Given the description of an element on the screen output the (x, y) to click on. 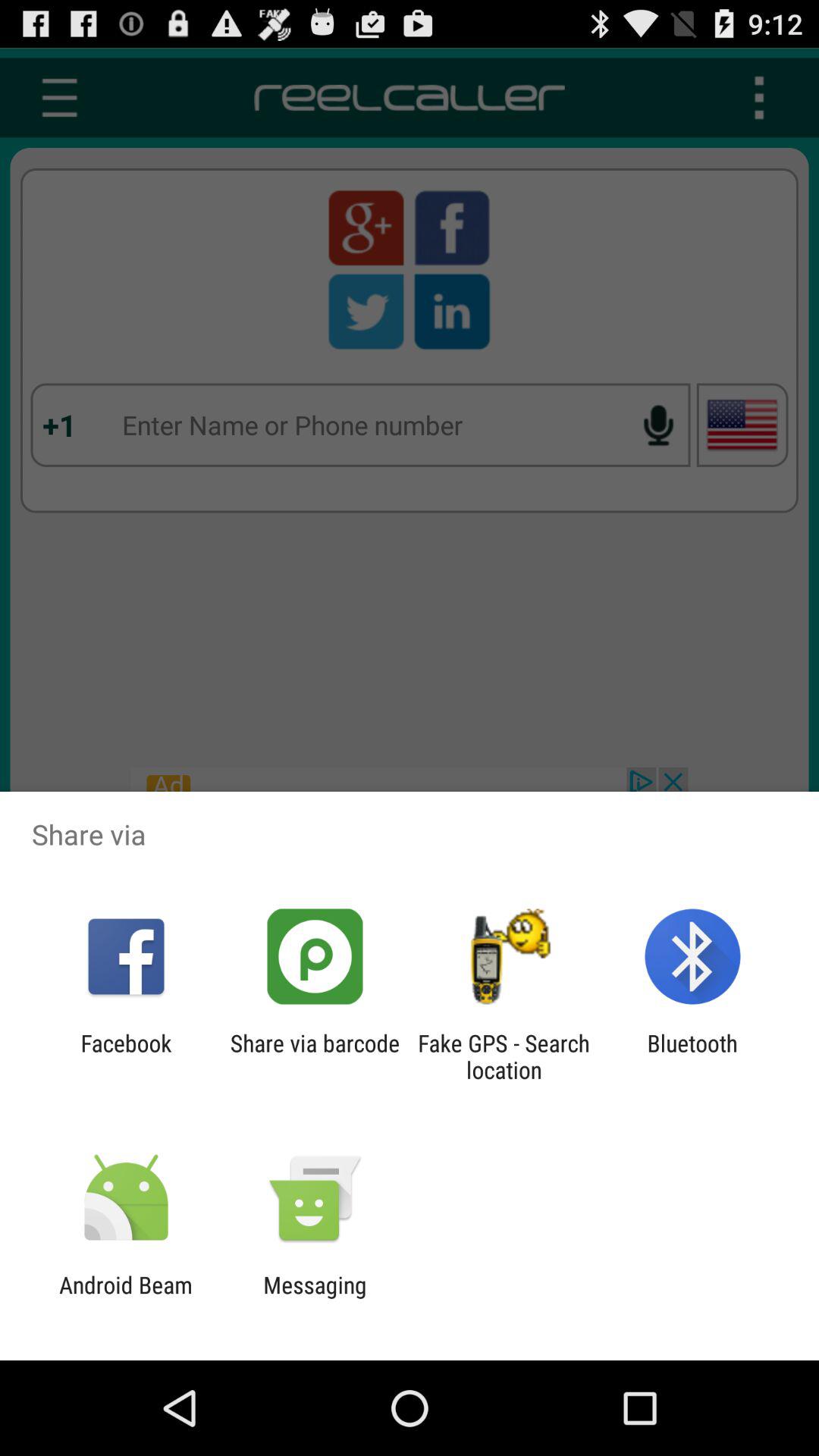
turn off item to the right of share via barcode icon (503, 1056)
